Given the description of an element on the screen output the (x, y) to click on. 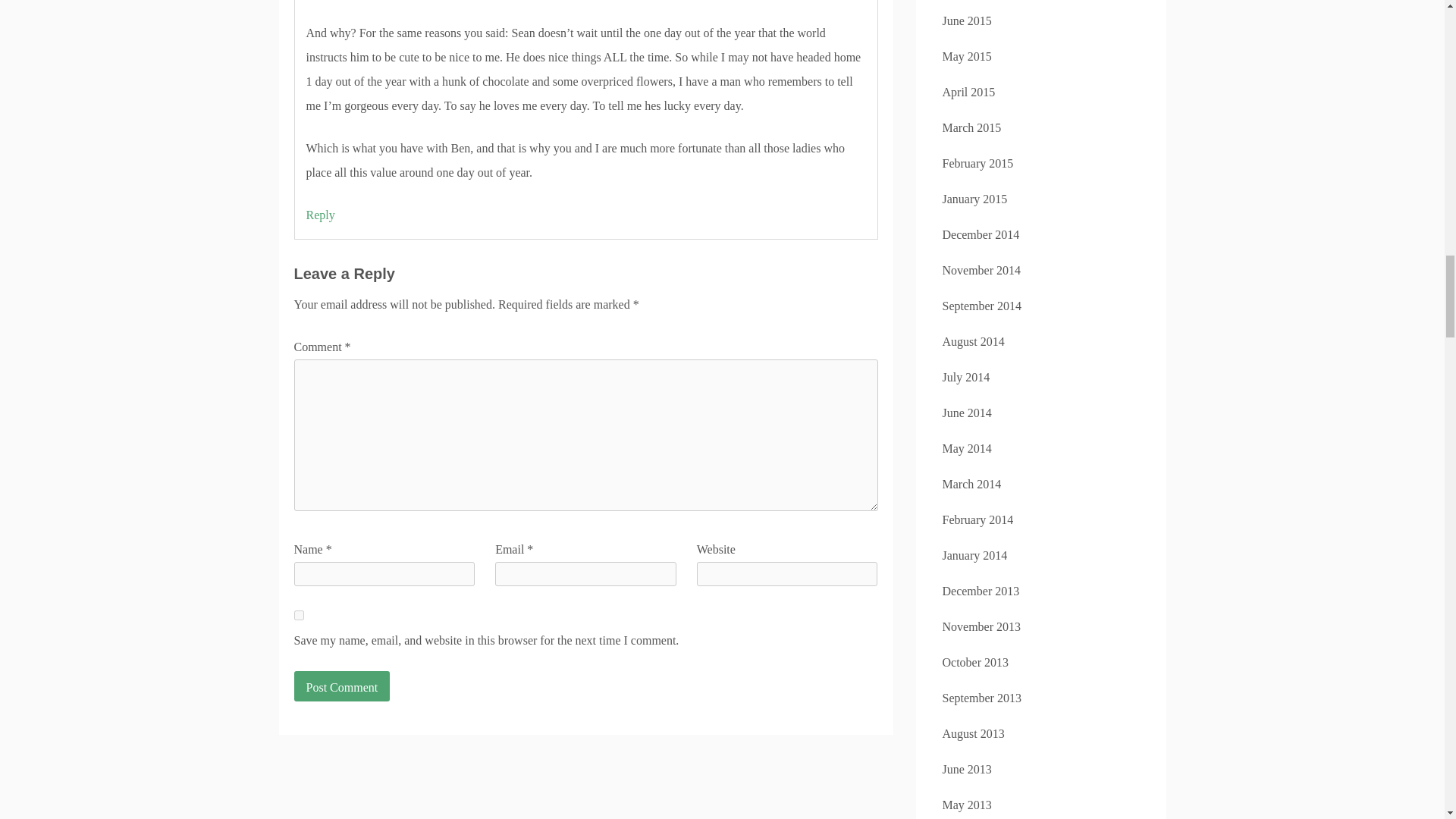
yes (299, 614)
Reply (319, 214)
Post Comment (342, 685)
Post Comment (342, 685)
